Given the description of an element on the screen output the (x, y) to click on. 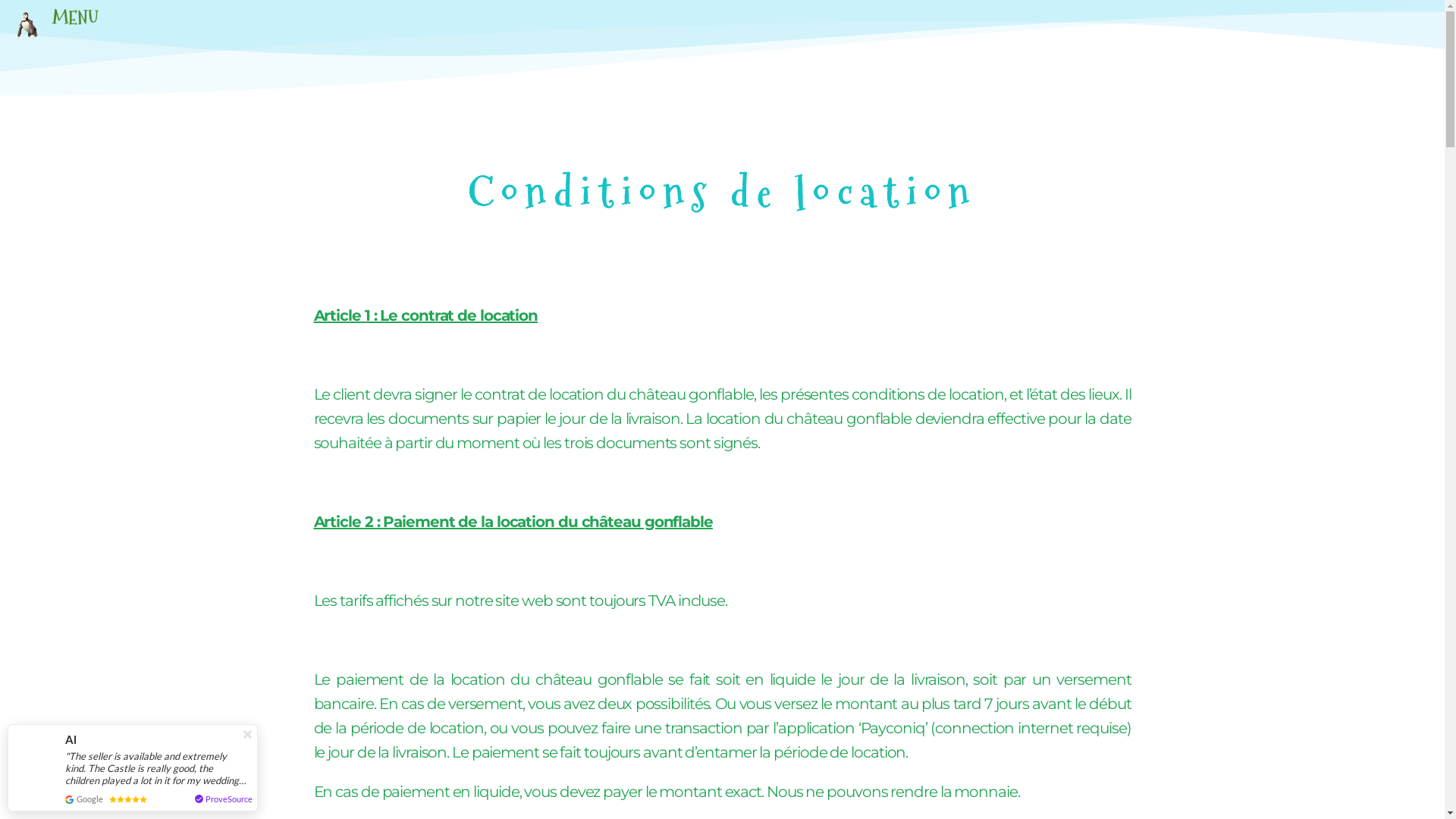
ProveSource Element type: text (228, 798)
